Given the description of an element on the screen output the (x, y) to click on. 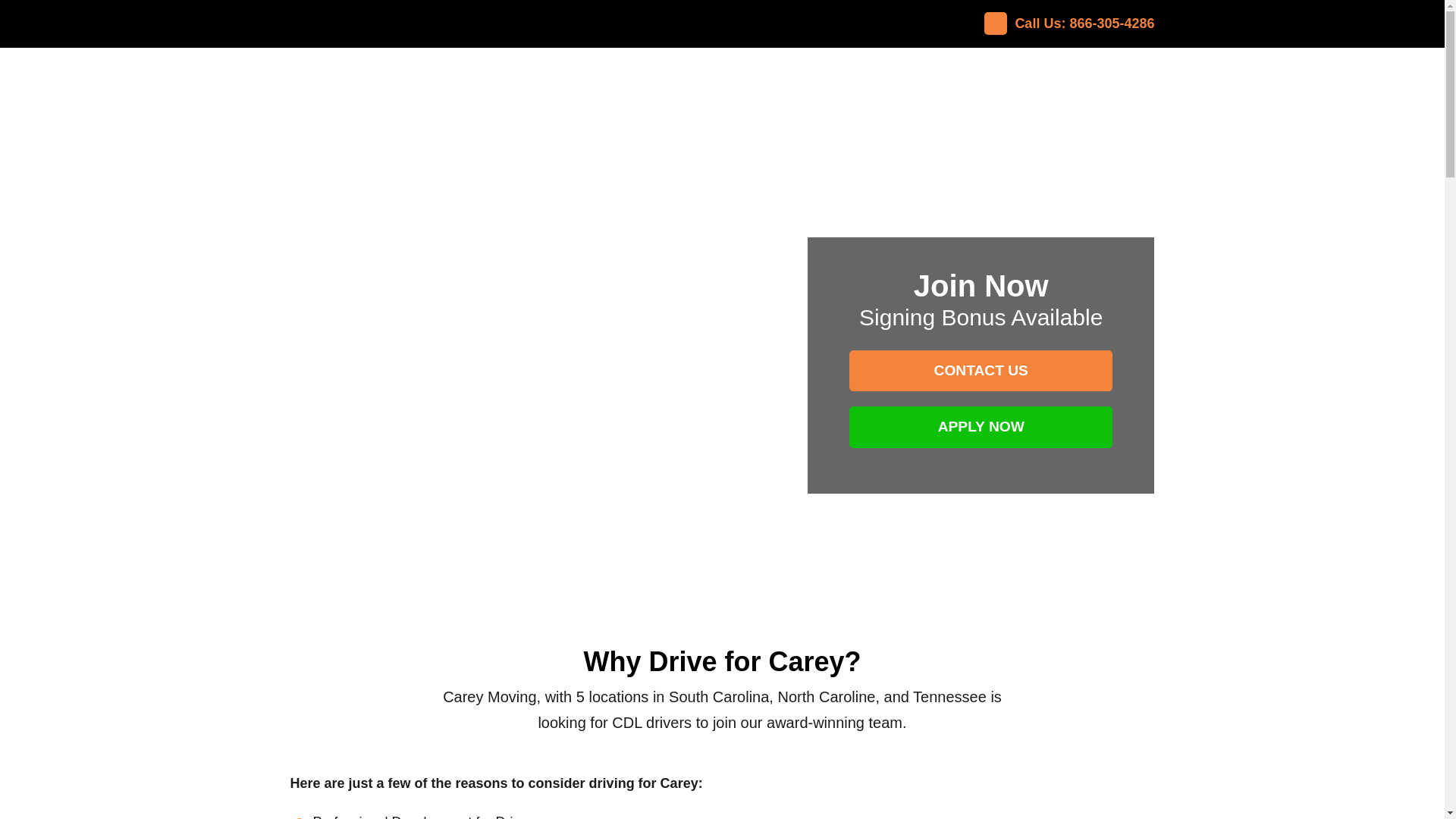
APPLY NOW (980, 426)
Call Us: 866-305-4286 (1061, 24)
CONTACT US (980, 371)
